Given the description of an element on the screen output the (x, y) to click on. 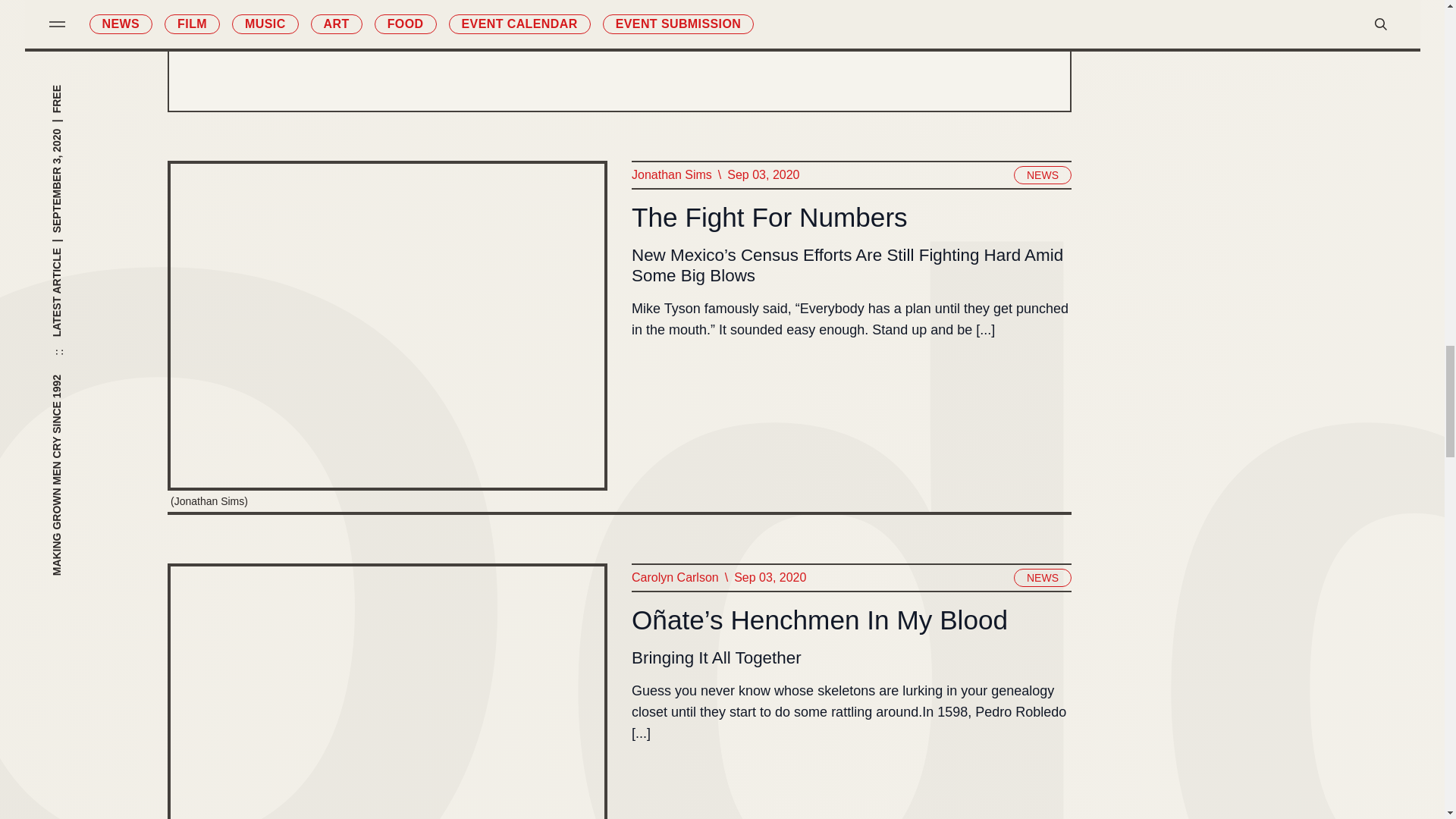
Jonathan Sims (670, 174)
Carolyn Carlson (673, 577)
NEWS (1041, 175)
NEWS (1041, 577)
